Given the description of an element on the screen output the (x, y) to click on. 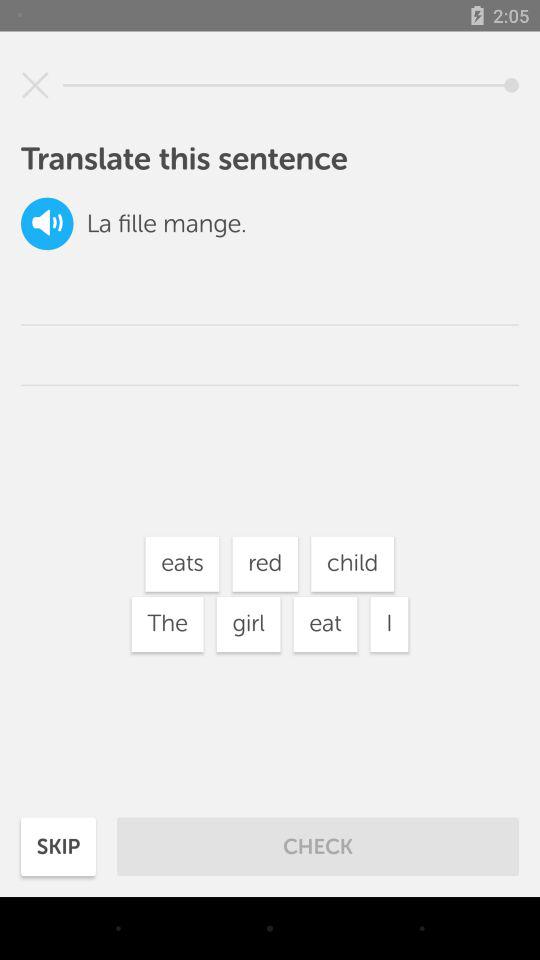
launch the item to the left of child (265, 563)
